Given the description of an element on the screen output the (x, y) to click on. 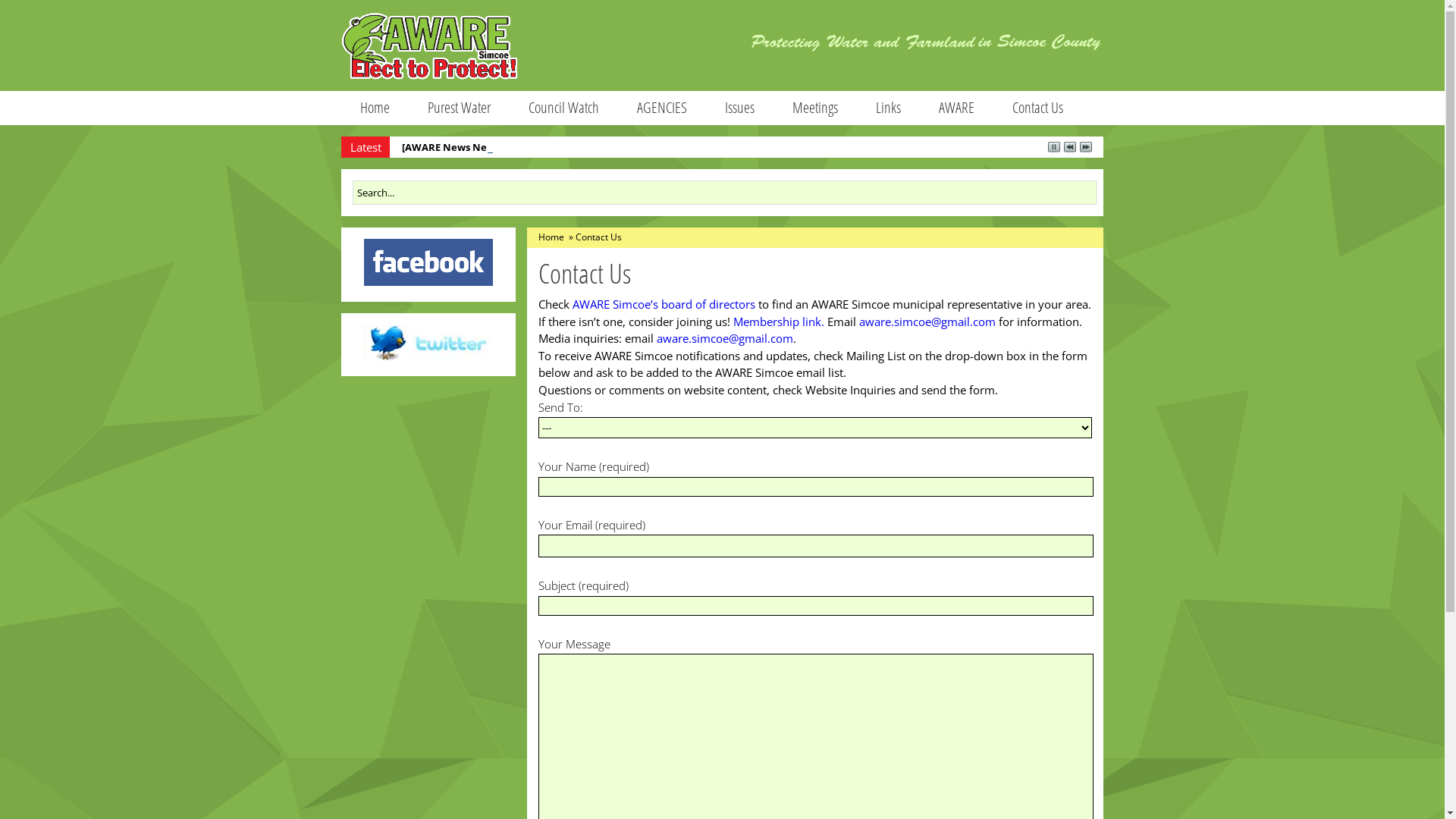
AWARE Element type: text (956, 108)
Purest Water Element type: text (458, 108)
Links Element type: text (887, 108)
Issues Element type: text (739, 108)
Council Watch Element type: text (563, 108)
aware.simcoe@gmail.com Element type: text (724, 337)
Membership link. Element type: text (778, 321)
Home Element type: text (374, 108)
Meetings Element type: text (814, 108)
Home Element type: text (552, 236)
aware.simcoe@gmail.com Element type: text (927, 321)
AGENCIES Element type: text (662, 108)
Contact Us Element type: text (1037, 108)
